Given the description of an element on the screen output the (x, y) to click on. 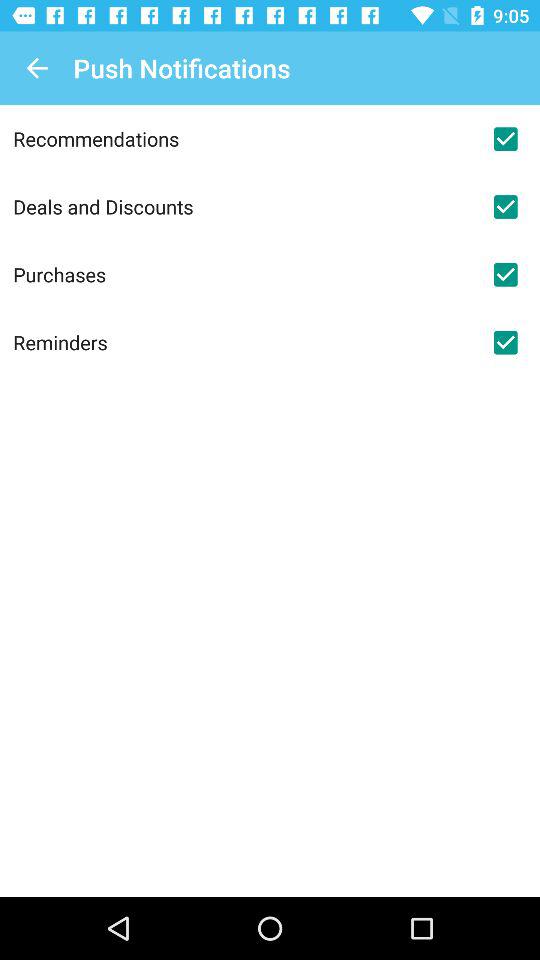
tap icon next to the push notifications icon (36, 68)
